Given the description of an element on the screen output the (x, y) to click on. 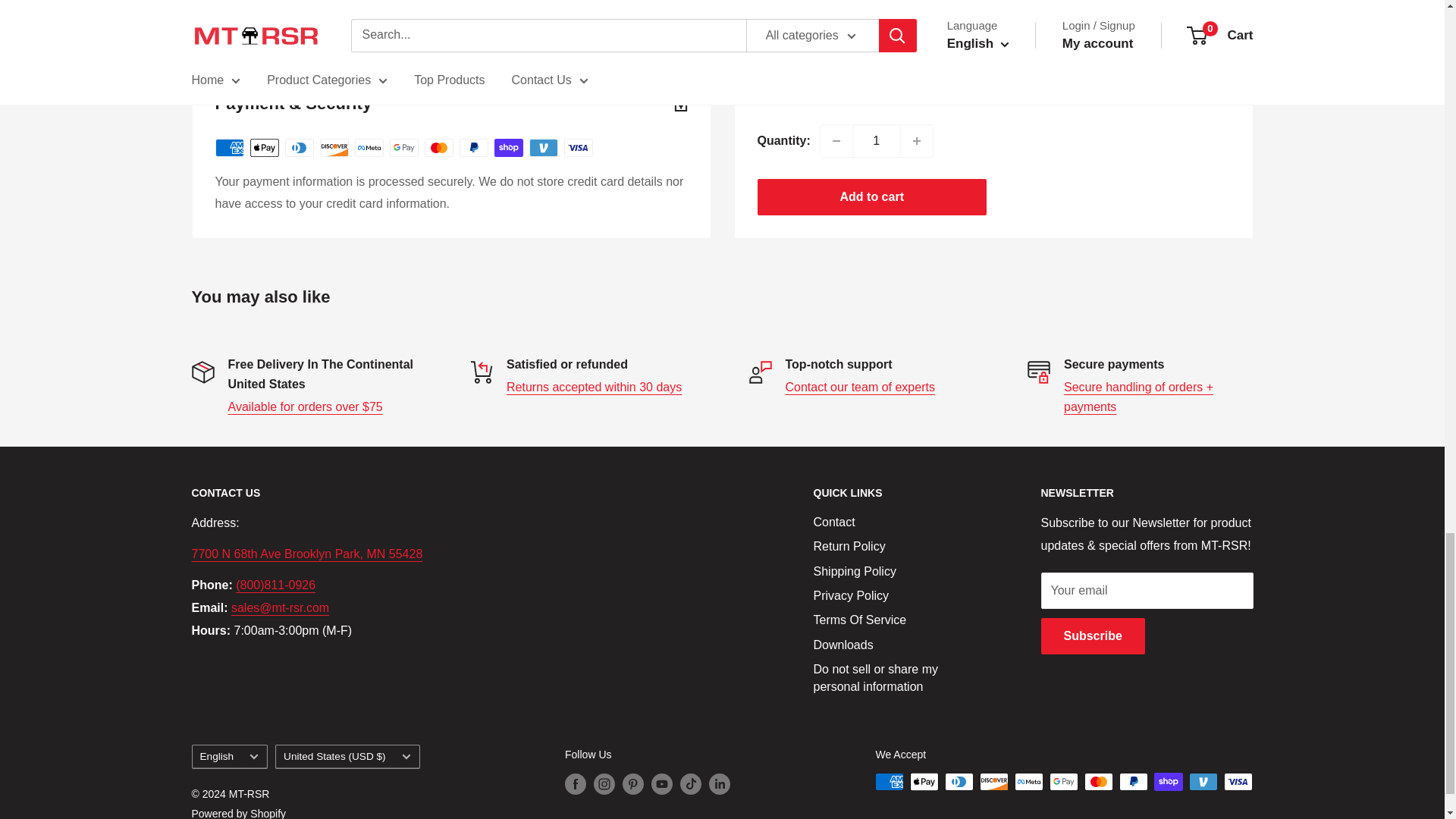
Shipping Policy (304, 406)
Return Policy (593, 386)
Contact (860, 386)
Privacy Policy (1138, 396)
7700 N 68th Ave Brooklyn Park, MN 55428 (306, 553)
